Given the description of an element on the screen output the (x, y) to click on. 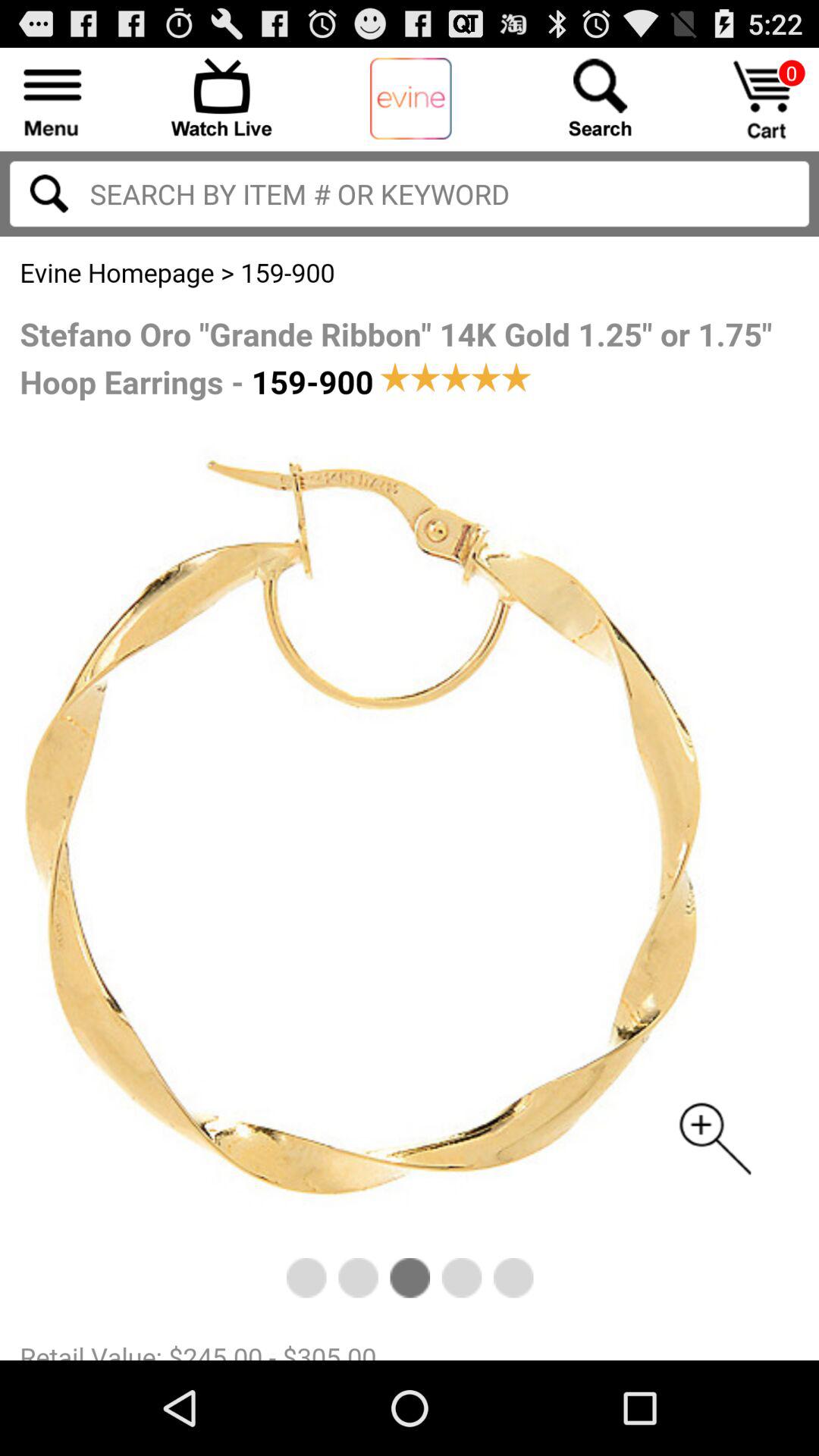
evine icon (410, 99)
